Given the description of an element on the screen output the (x, y) to click on. 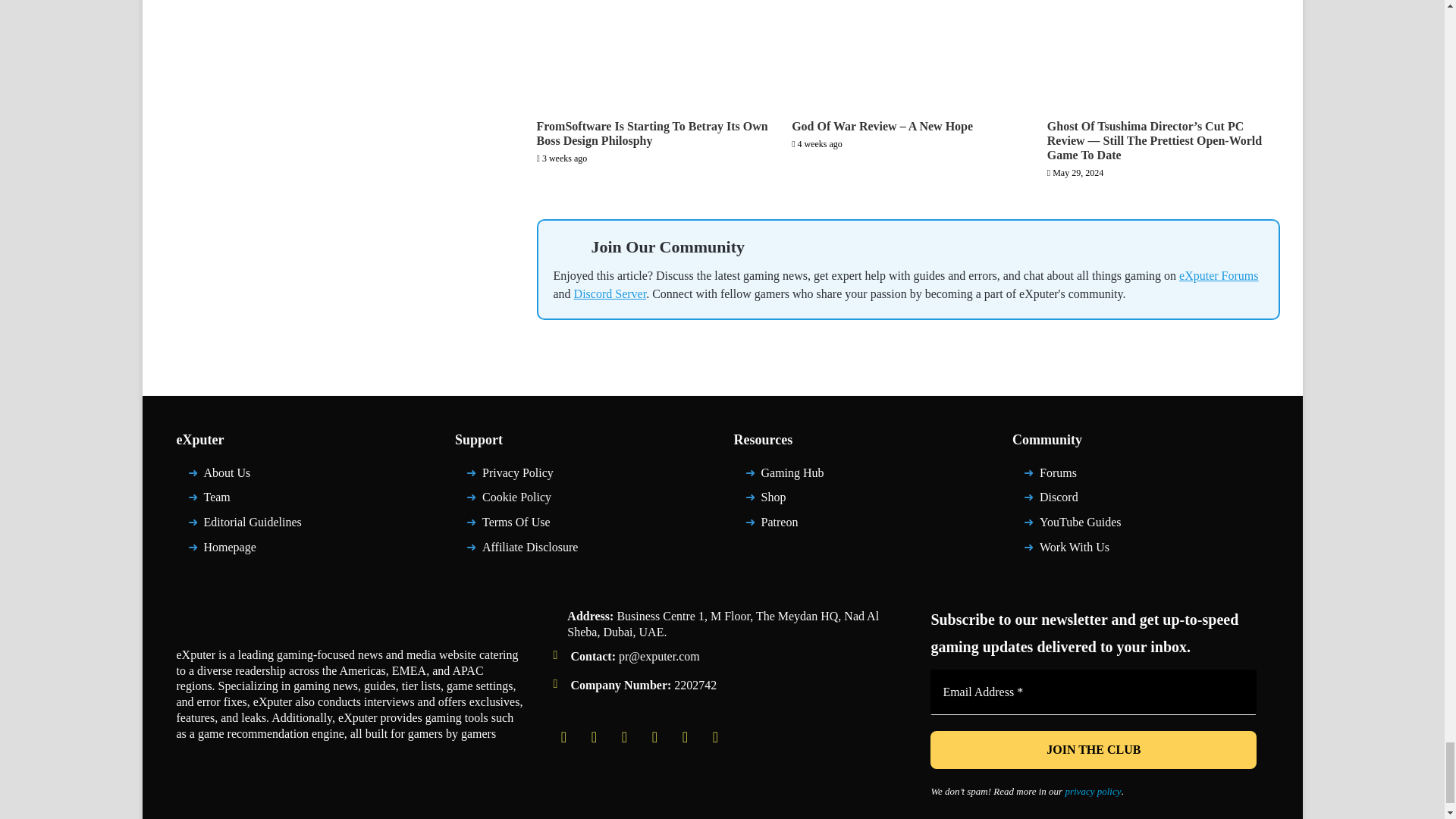
JOIN THE  CLUB (1093, 750)
